Given the description of an element on the screen output the (x, y) to click on. 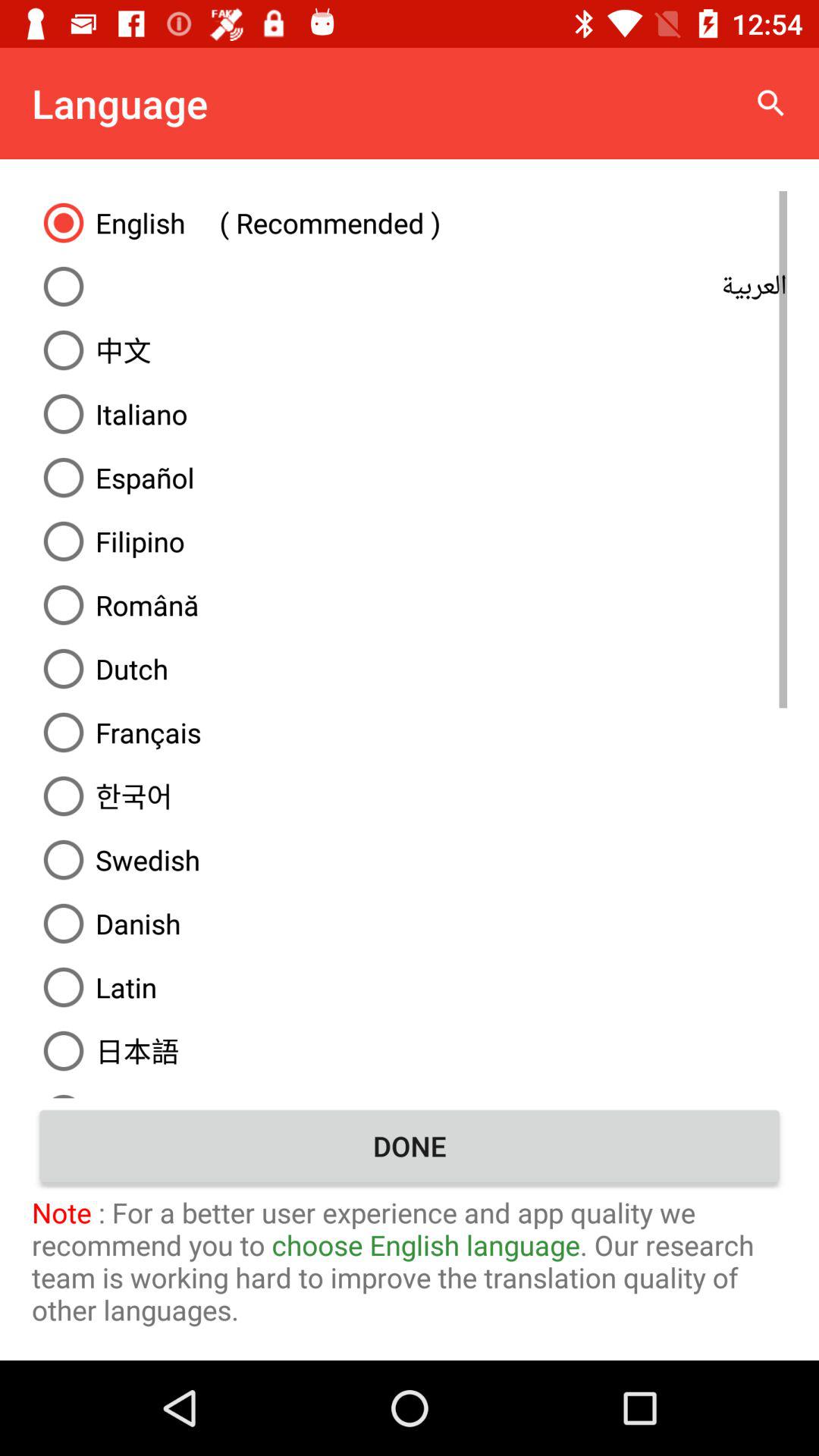
open the english     ( recommended ) item (409, 222)
